Given the description of an element on the screen output the (x, y) to click on. 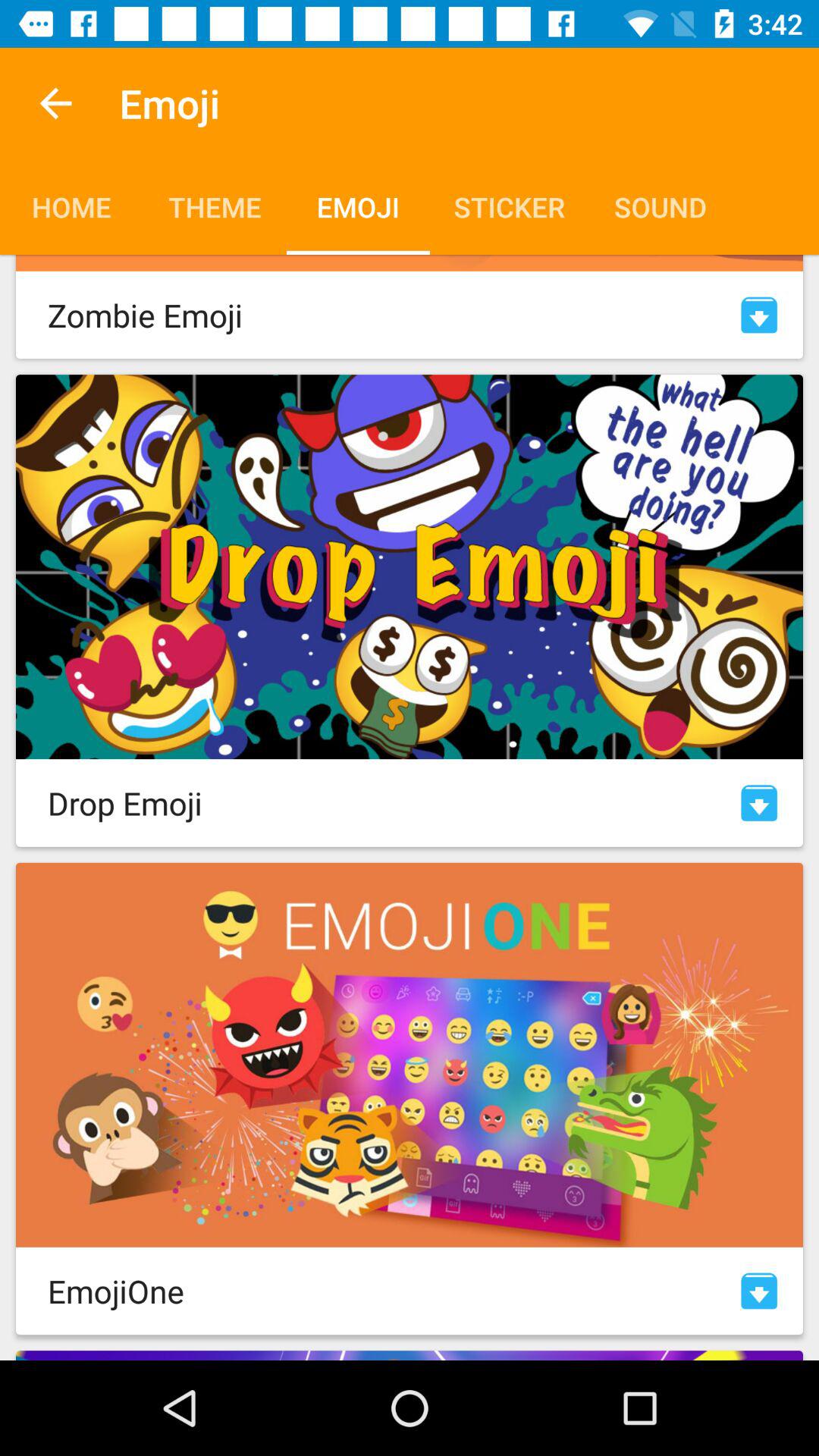
download drop emoji (759, 802)
